Given the description of an element on the screen output the (x, y) to click on. 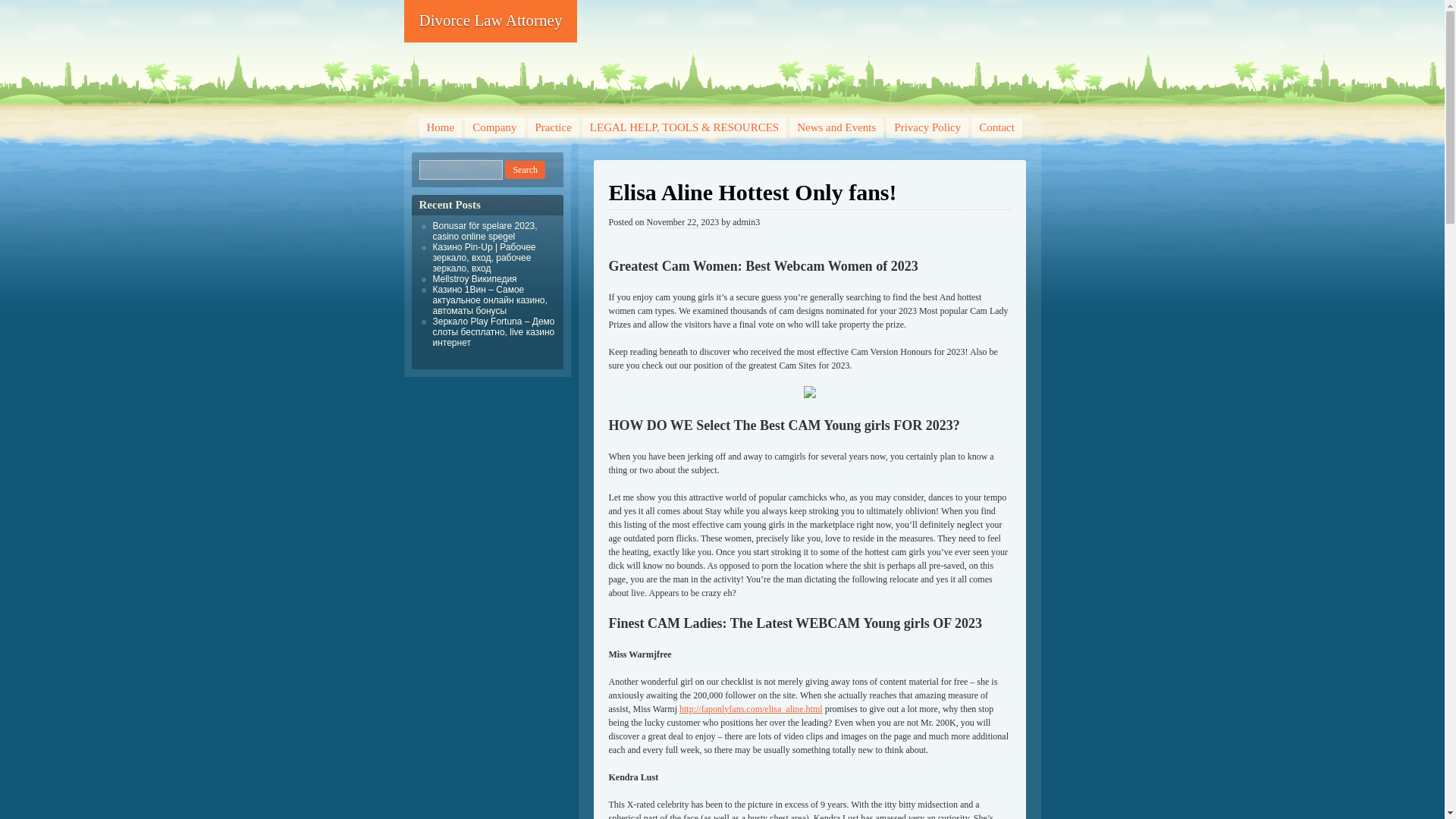
admin3 (746, 222)
Divorce Law Attorney (489, 21)
View all posts by admin3 (746, 222)
Divorce Law Attorney (489, 21)
November 22, 2023 (682, 222)
Home (440, 127)
Practice (553, 127)
Privacy Policy (927, 127)
News and Events (836, 127)
Company (494, 127)
Contact (996, 127)
Search (524, 169)
Search (524, 169)
